Given the description of an element on the screen output the (x, y) to click on. 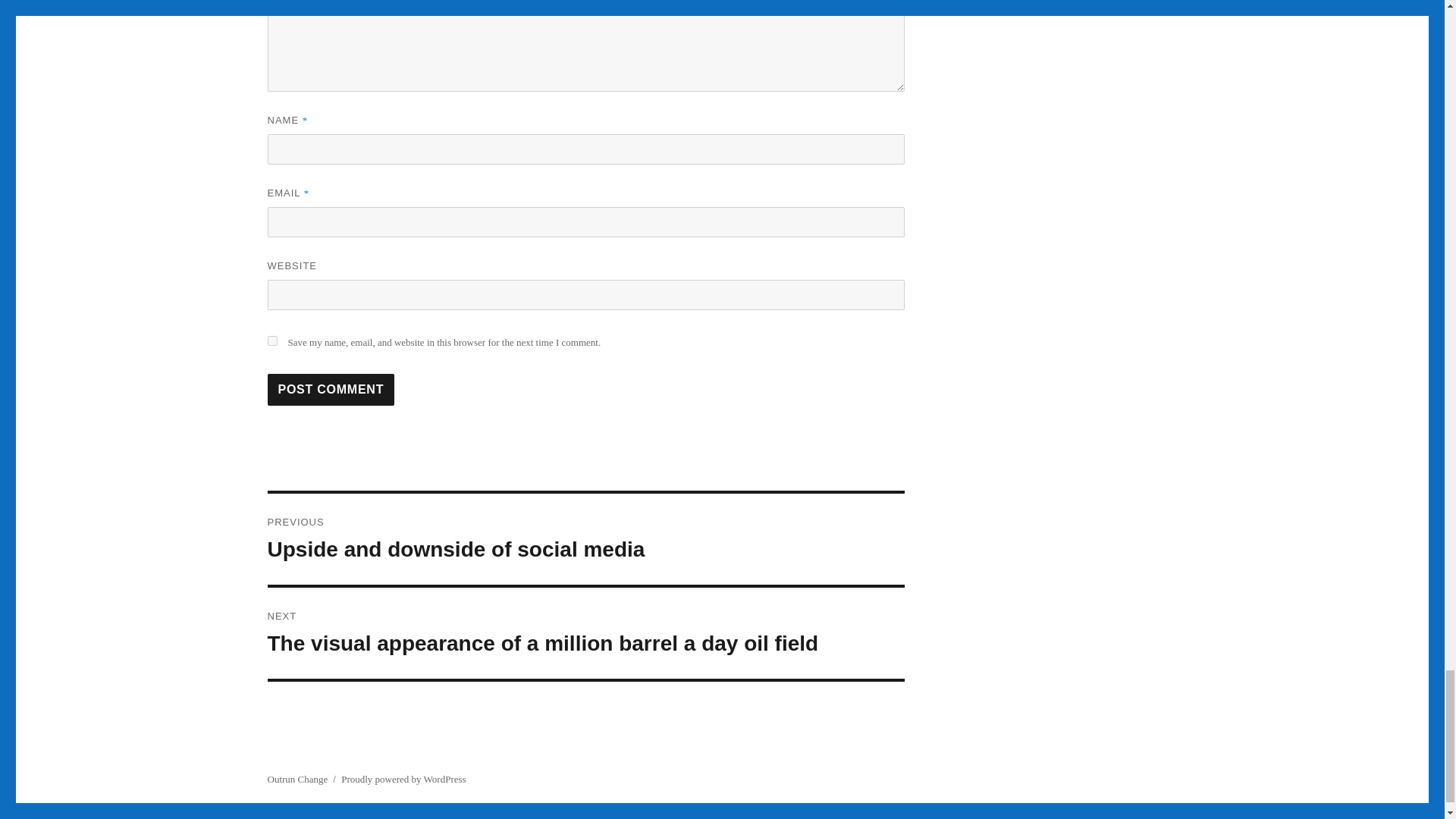
Post Comment (330, 389)
Post Comment (330, 389)
yes (585, 538)
